Given the description of an element on the screen output the (x, y) to click on. 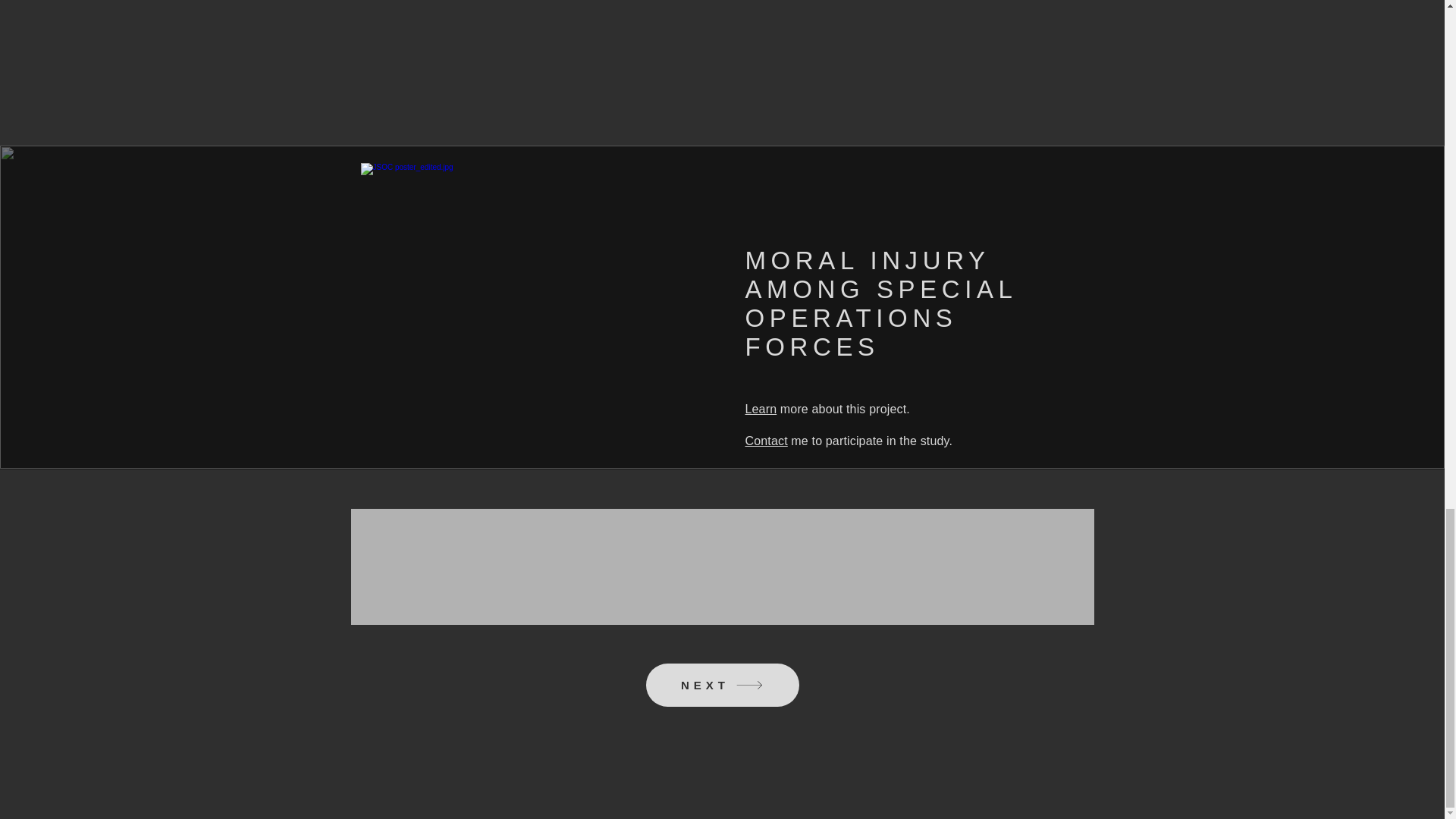
NEXT (722, 684)
Learn (760, 408)
Contact (765, 440)
MORAL INJURY AMONG SPECIAL OPERATIONS FORCES (880, 305)
